Given the description of an element on the screen output the (x, y) to click on. 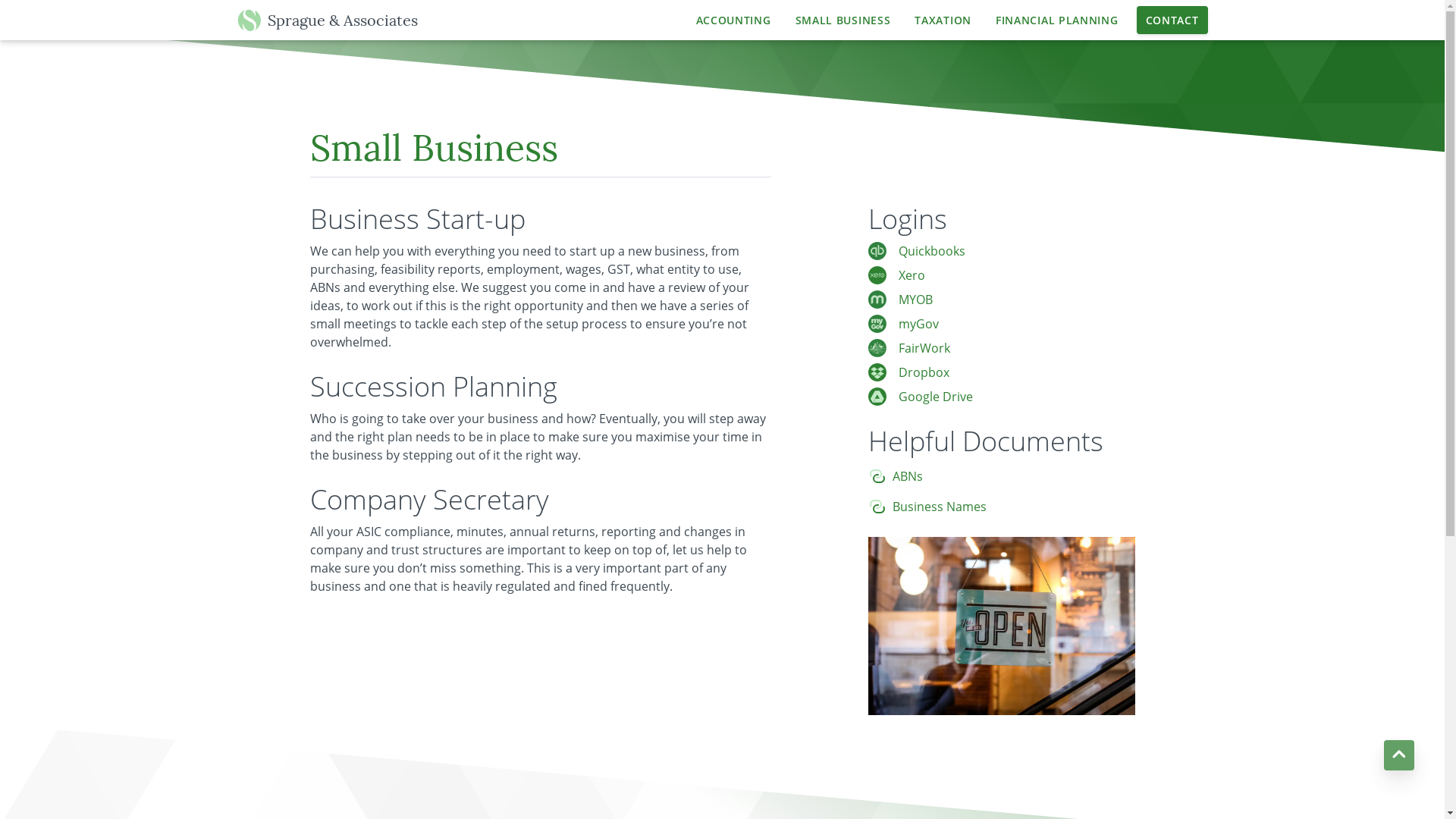
FairWork Element type: text (923, 347)
Business Names Element type: text (938, 506)
Quickbooks Element type: text (930, 250)
CONTACT Element type: text (1172, 20)
Google Drive Element type: text (934, 396)
MYOB Element type: text (914, 299)
Small Business Element type: text (433, 150)
Dropbox Element type: text (922, 372)
Xero Element type: text (910, 275)
Sprague & Associates Element type: text (332, 19)
FINANCIAL PLANNING Element type: text (1056, 20)
ABNs Element type: text (906, 476)
TAXATION Element type: text (942, 20)
myGov Element type: text (917, 323)
ACCOUNTING Element type: text (733, 20)
SMALL BUSINESS Element type: text (843, 20)
